Given the description of an element on the screen output the (x, y) to click on. 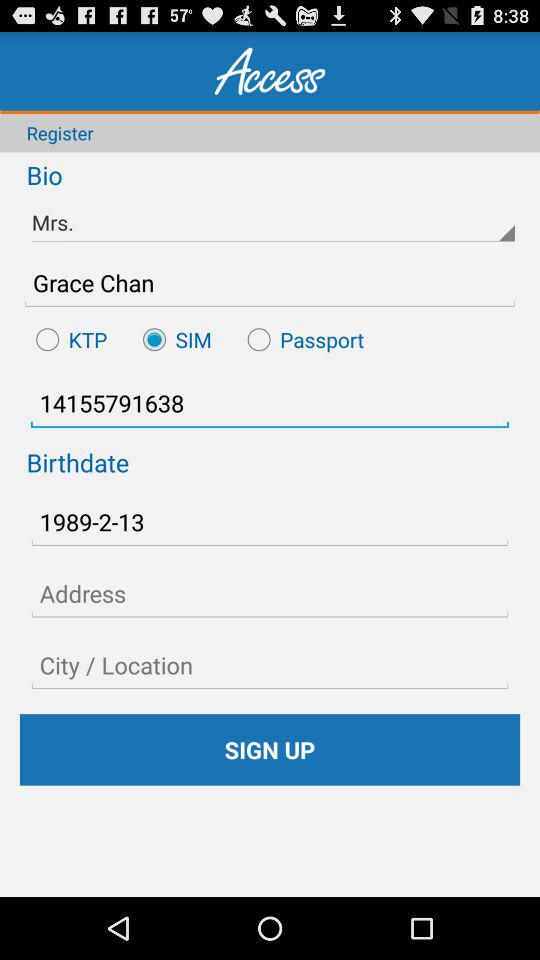
enter city (269, 665)
